Given the description of an element on the screen output the (x, y) to click on. 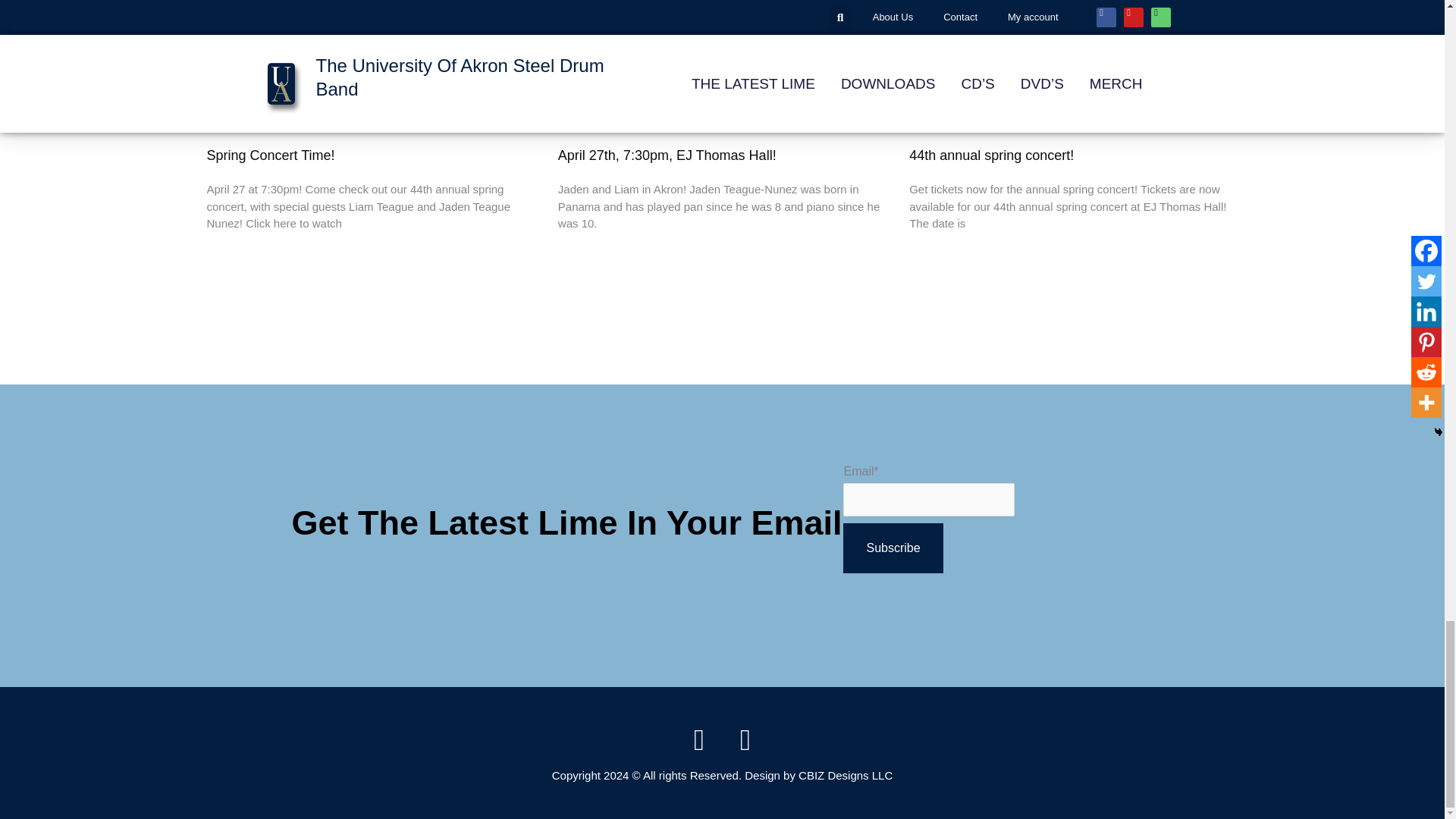
Subscribe (892, 548)
